Given the description of an element on the screen output the (x, y) to click on. 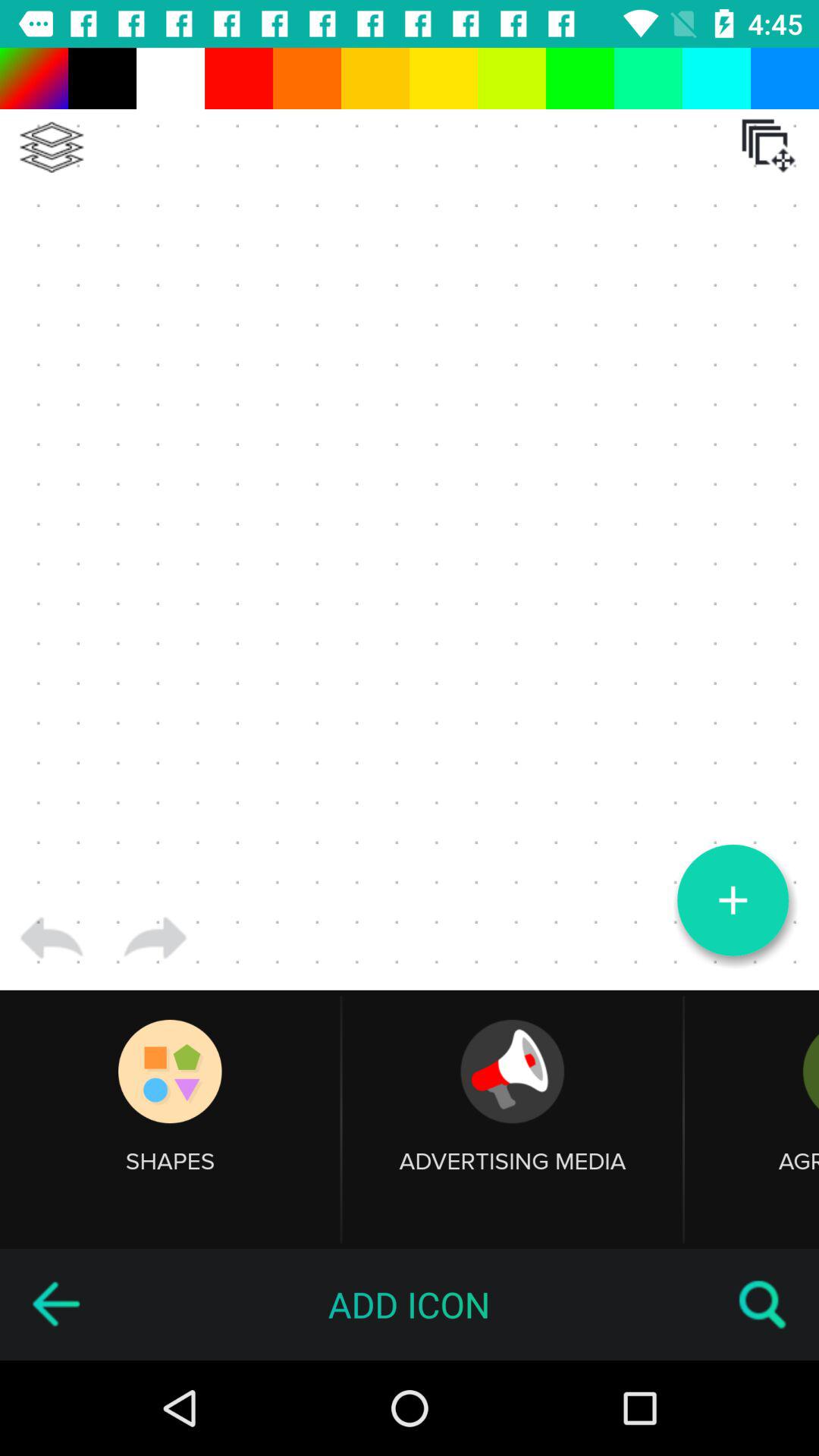
add icon to page (409, 518)
